Given the description of an element on the screen output the (x, y) to click on. 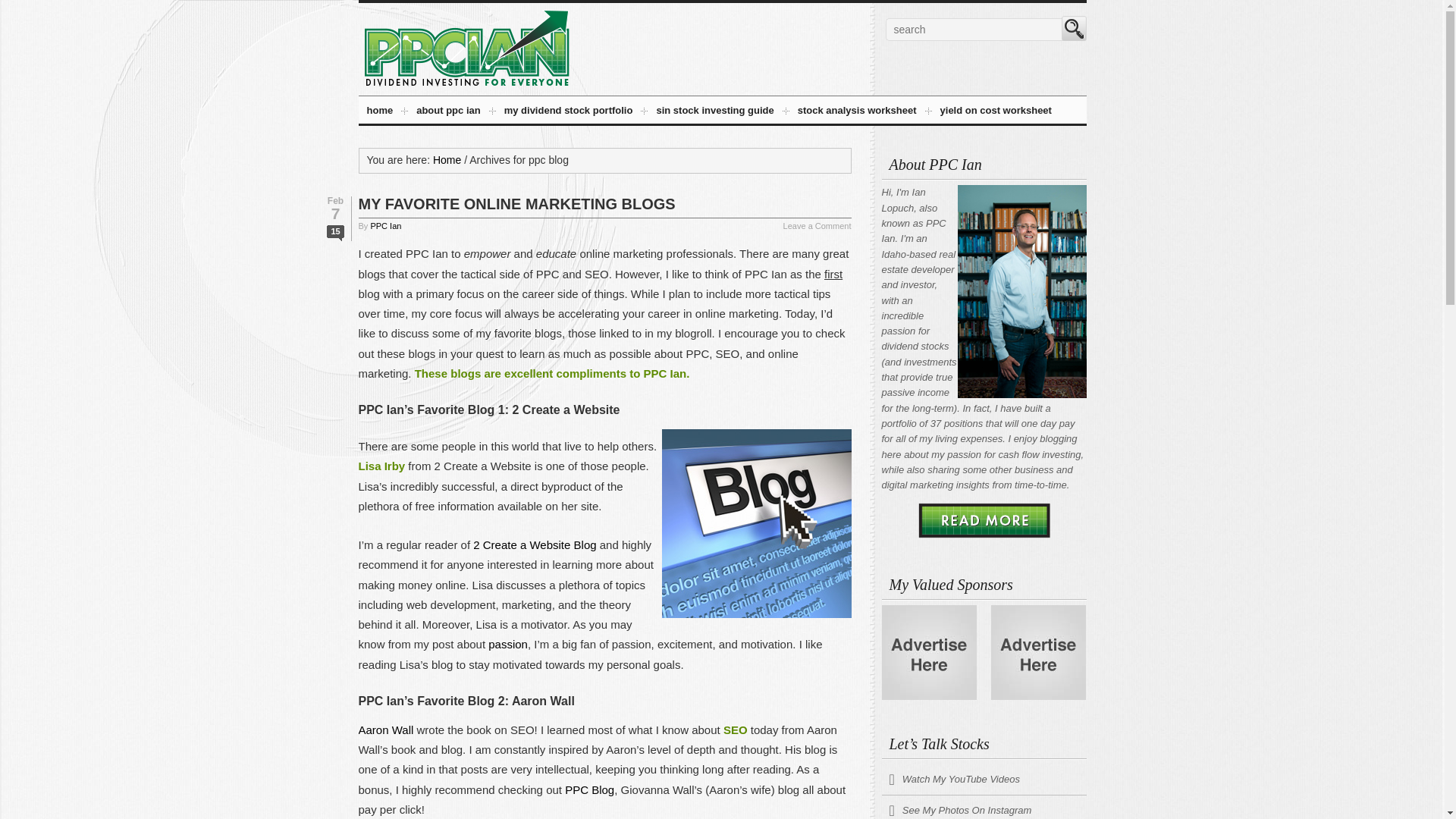
Search (1073, 27)
Home (446, 159)
15 (334, 232)
Watch My YouTube Videos (983, 779)
Search (1073, 27)
MY FAVORITE ONLINE MARKETING BLOGS (516, 203)
PPC Blog (589, 789)
PPC Ian (465, 48)
sin stock investing guide (714, 112)
2 Create a Website Blog (534, 544)
